Given the description of an element on the screen output the (x, y) to click on. 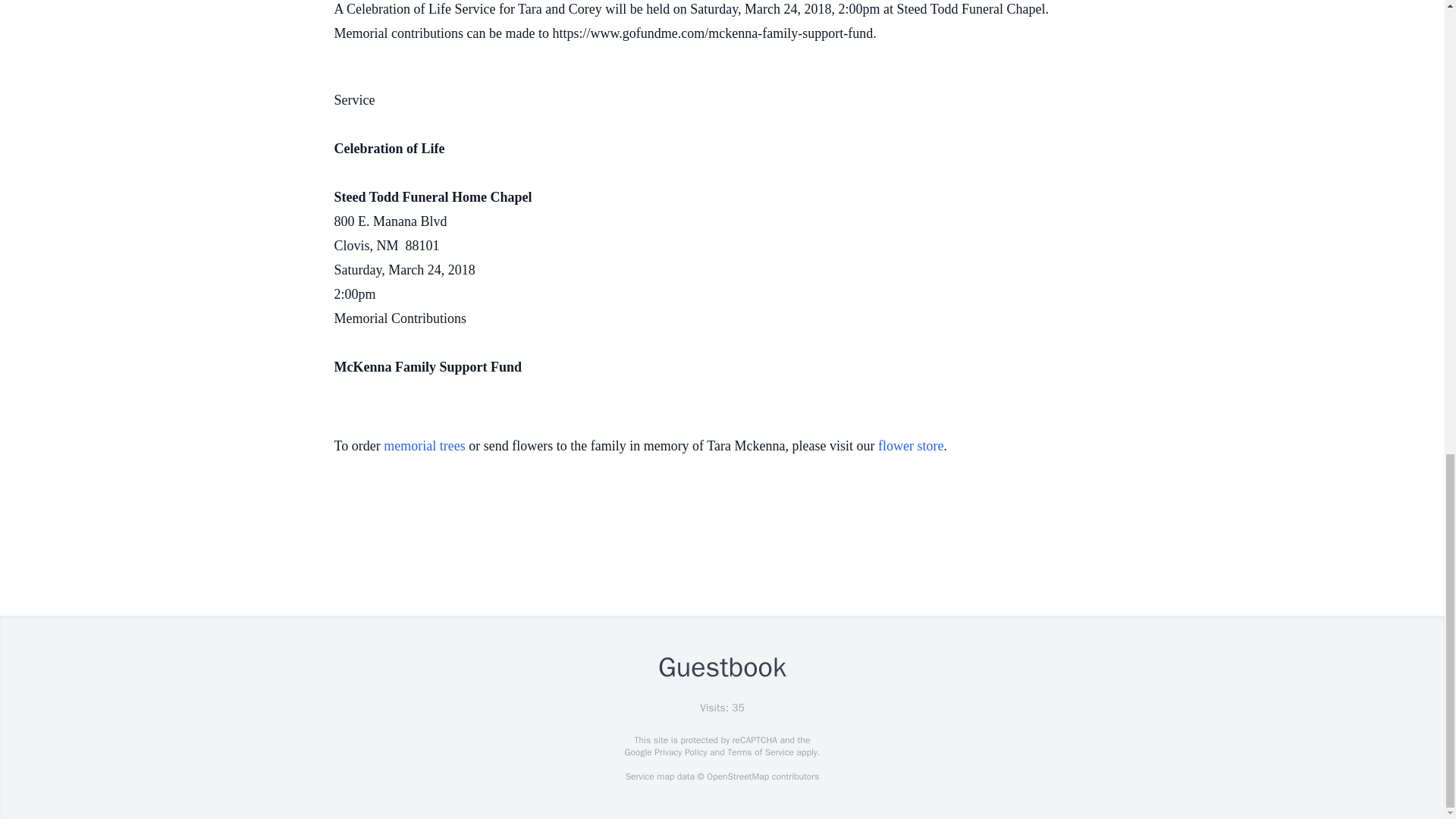
Terms of Service (759, 752)
OpenStreetMap (737, 776)
Privacy Policy (679, 752)
flower store (910, 445)
memorial trees (424, 445)
